Given the description of an element on the screen output the (x, y) to click on. 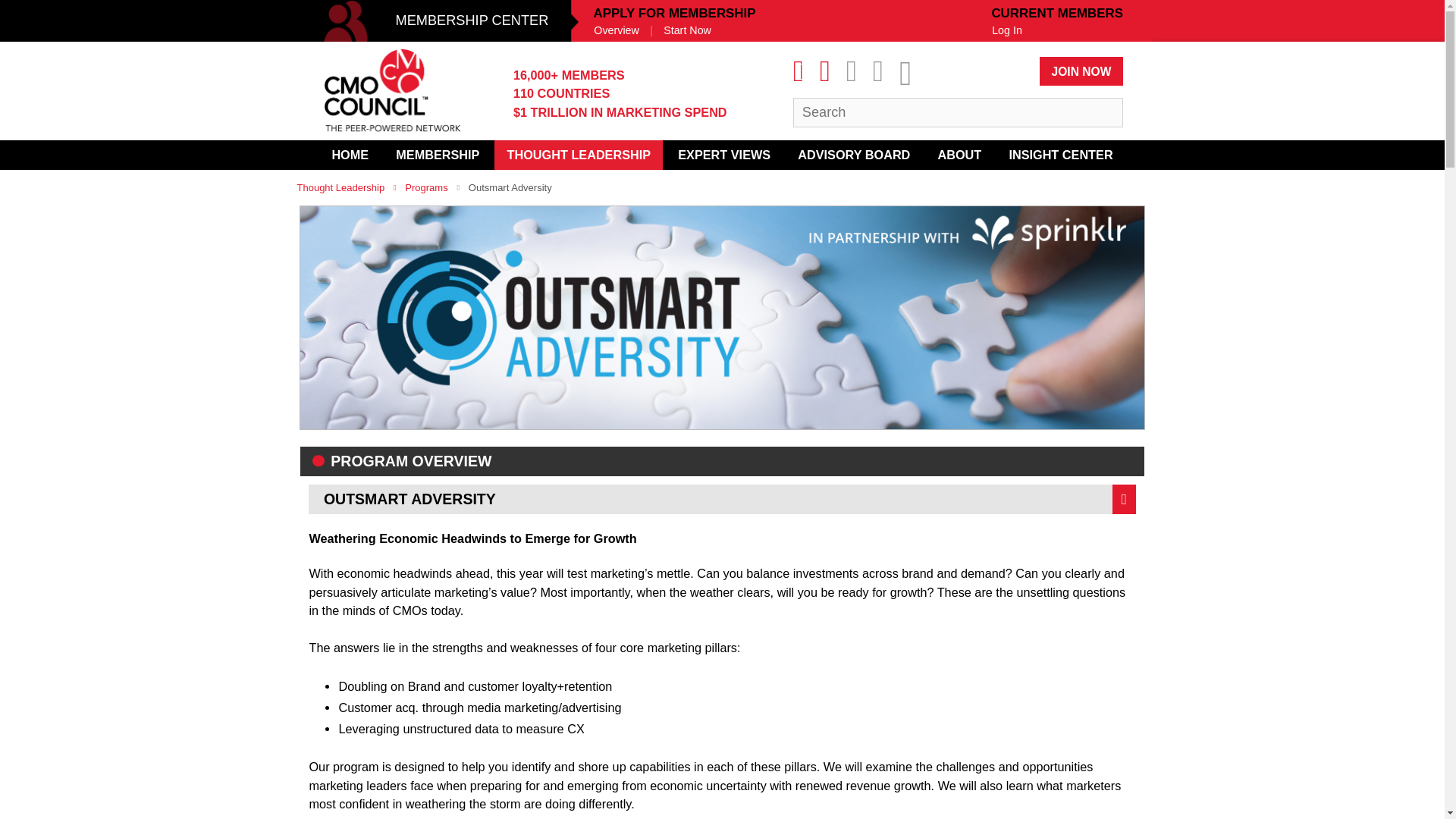
MEMBERSHIP CENTER (437, 20)
Log In (1007, 30)
Start Now (687, 30)
JOIN NOW (1080, 70)
HOME (349, 154)
THOUGHT LEADERSHIP (578, 154)
MEMBERSHIP (438, 154)
Overview (616, 30)
